Given the description of an element on the screen output the (x, y) to click on. 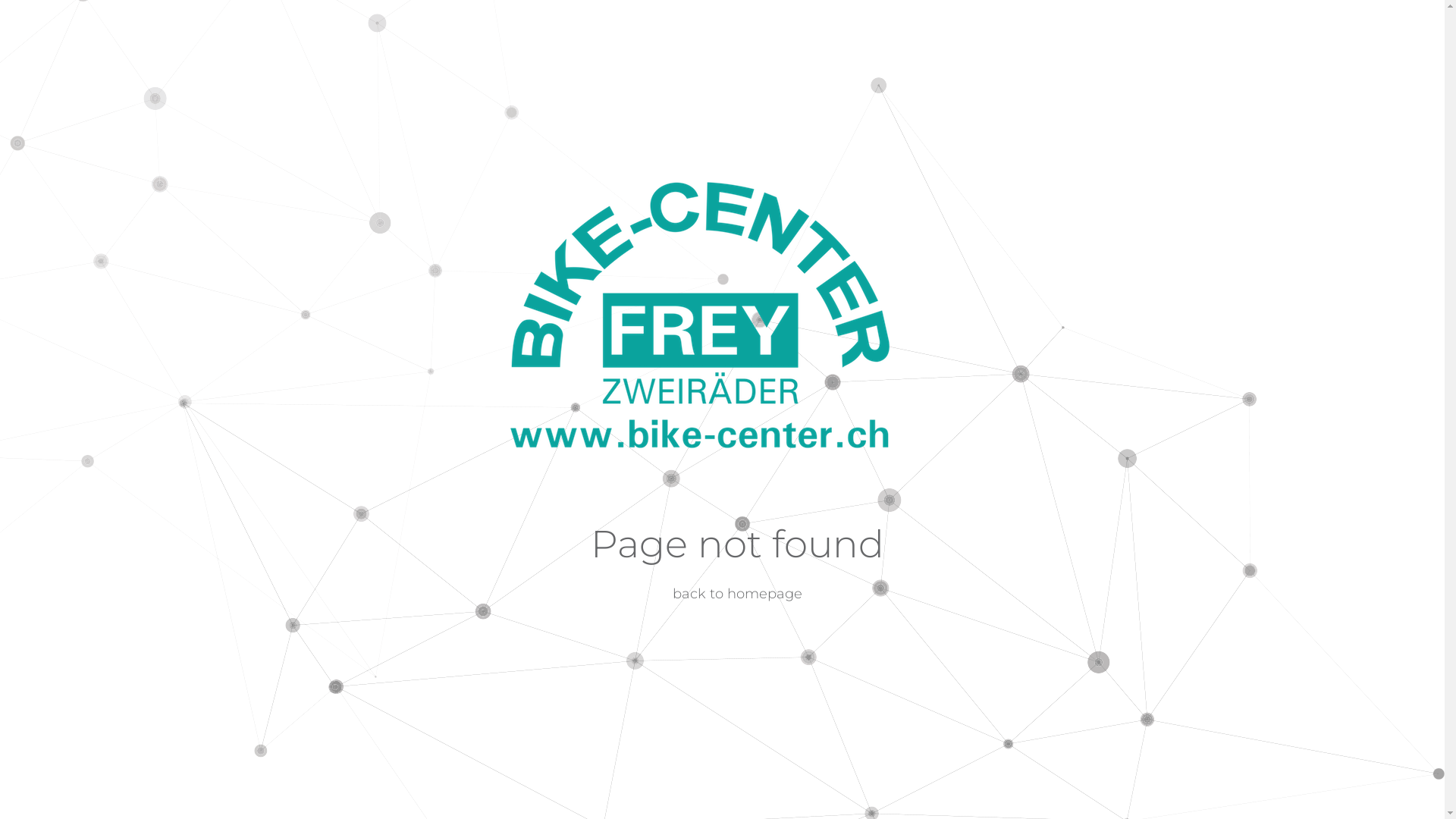
homepage Element type: text (764, 593)
Search Element type: text (973, 365)
